Given the description of an element on the screen output the (x, y) to click on. 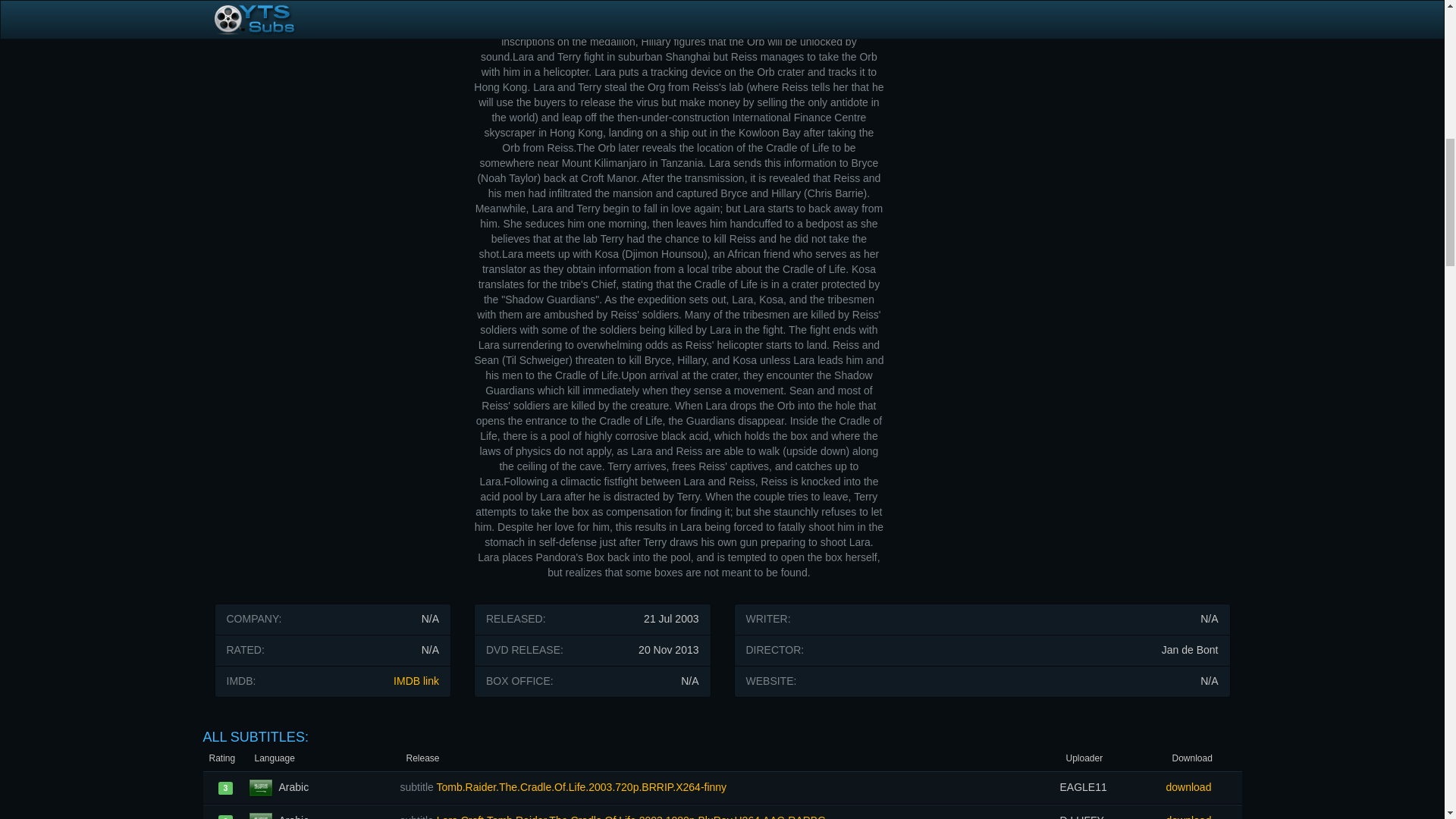
IMDB link (416, 680)
download (1203, 812)
download (1203, 787)
